Given the description of an element on the screen output the (x, y) to click on. 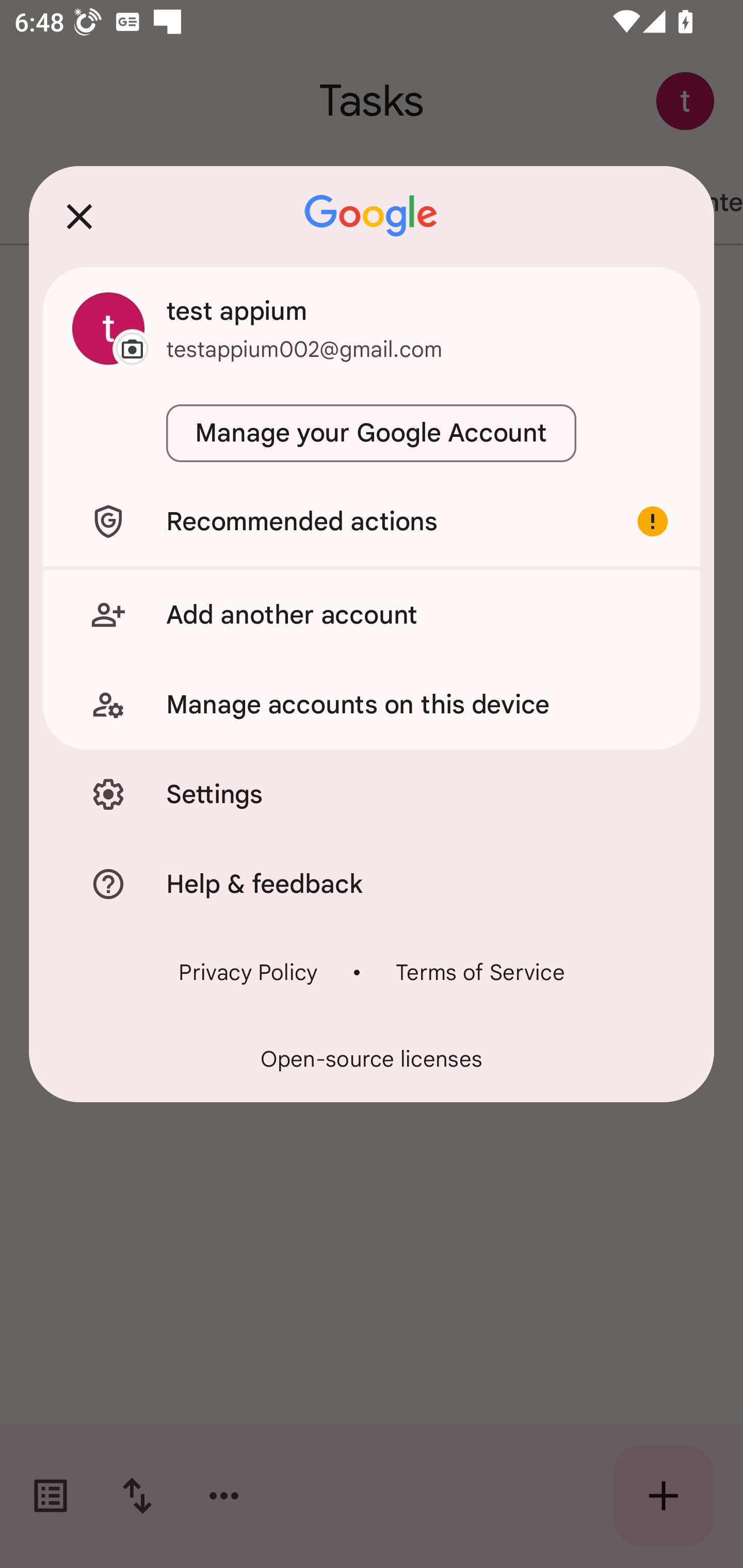
Close (79, 216)
Change profile picture. (108, 328)
Manage your Google Account (371, 433)
Recommended actions Important account alert (371, 521)
Add another account (371, 614)
Manage accounts on this device (371, 704)
Settings (371, 793)
Help & feedback (371, 883)
Privacy Policy (247, 972)
Terms of Service (479, 972)
Open-source licenses (371, 1059)
